Given the description of an element on the screen output the (x, y) to click on. 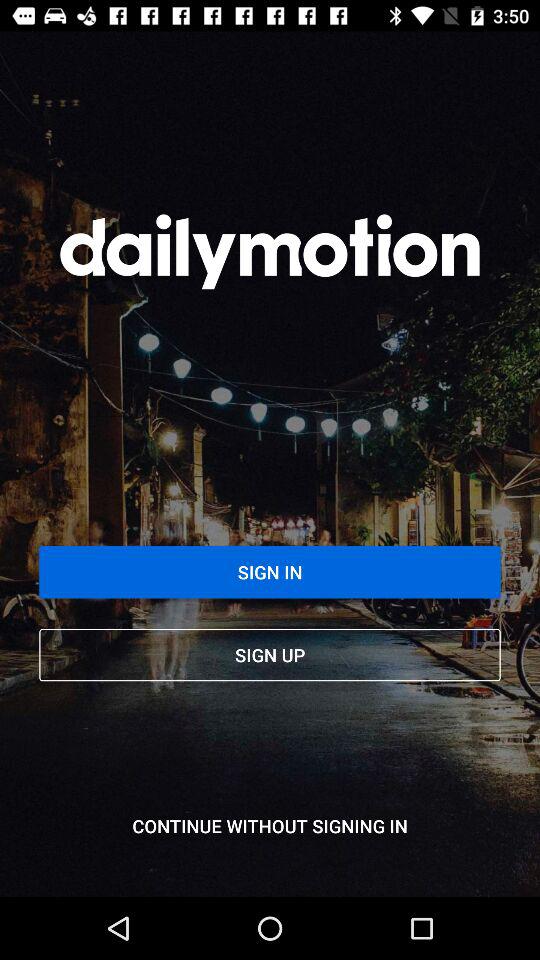
open item above the continue without signing item (269, 654)
